Given the description of an element on the screen output the (x, y) to click on. 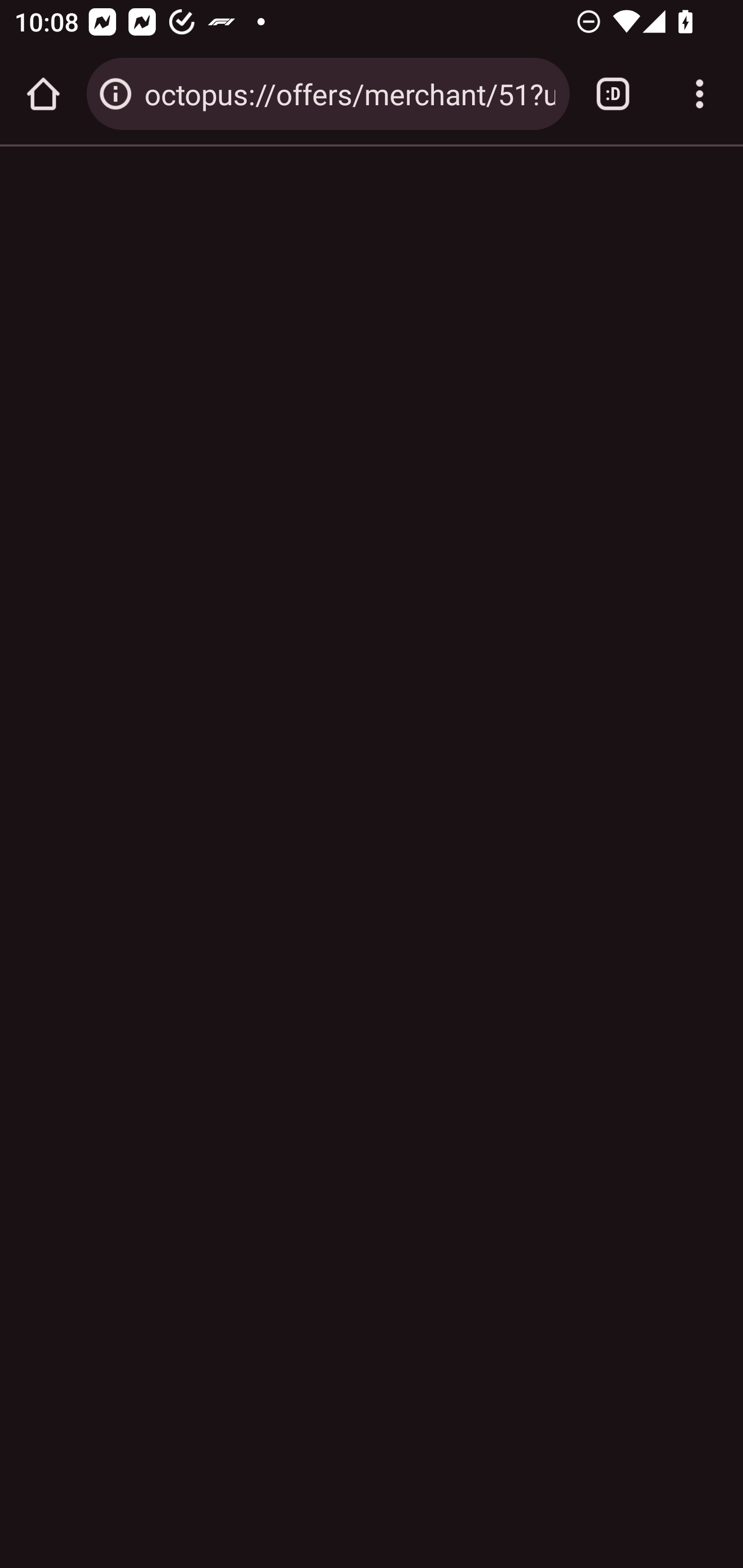
Open the home page (43, 93)
Your connection to this site is not secure (115, 93)
Switch or close tabs (612, 93)
Customize and control Google Chrome (699, 93)
